Given the description of an element on the screen output the (x, y) to click on. 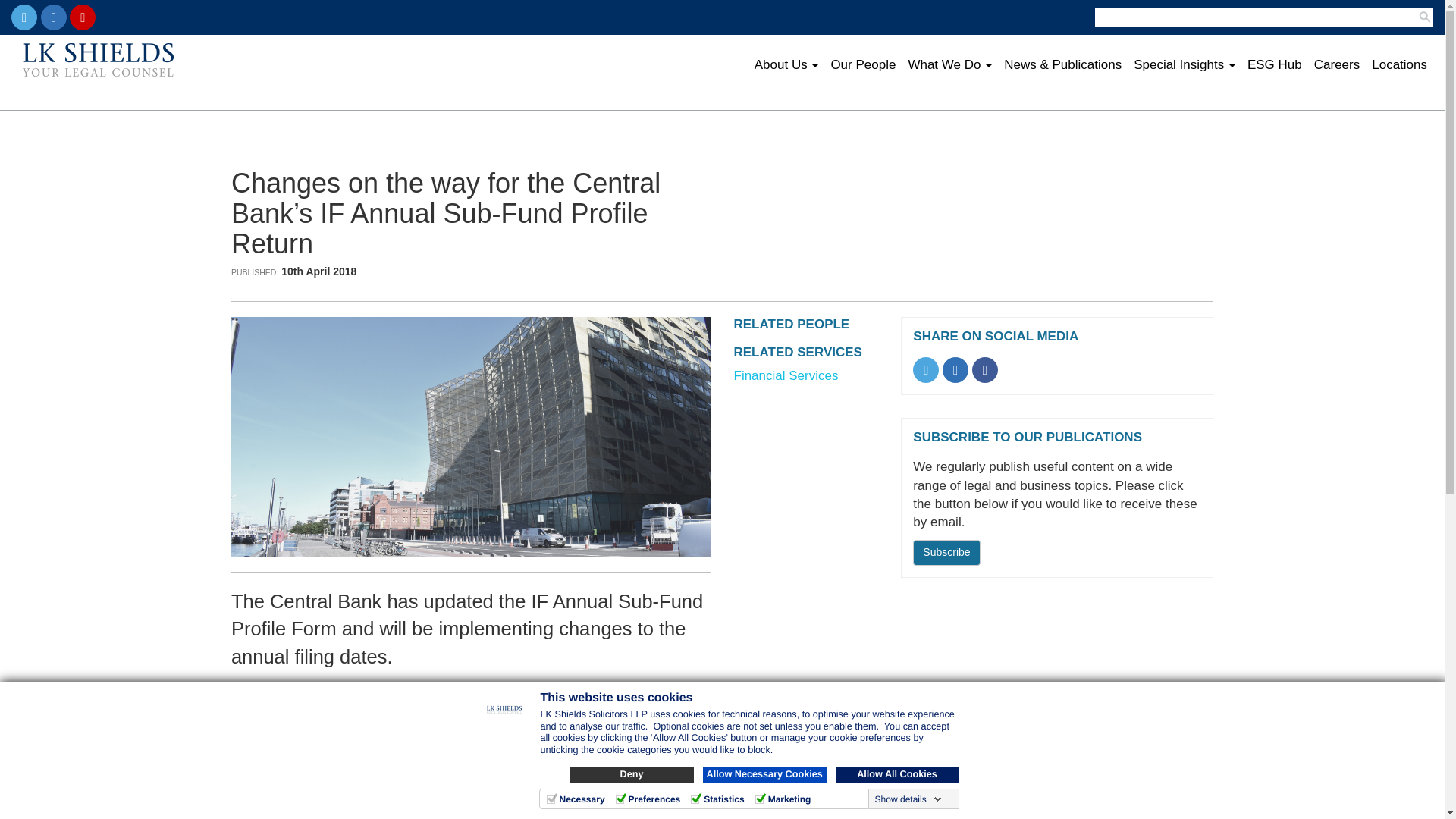
Allow All Cookies (897, 774)
Deny (632, 774)
Show details (908, 799)
Allow Necessary Cookies (763, 774)
